Given the description of an element on the screen output the (x, y) to click on. 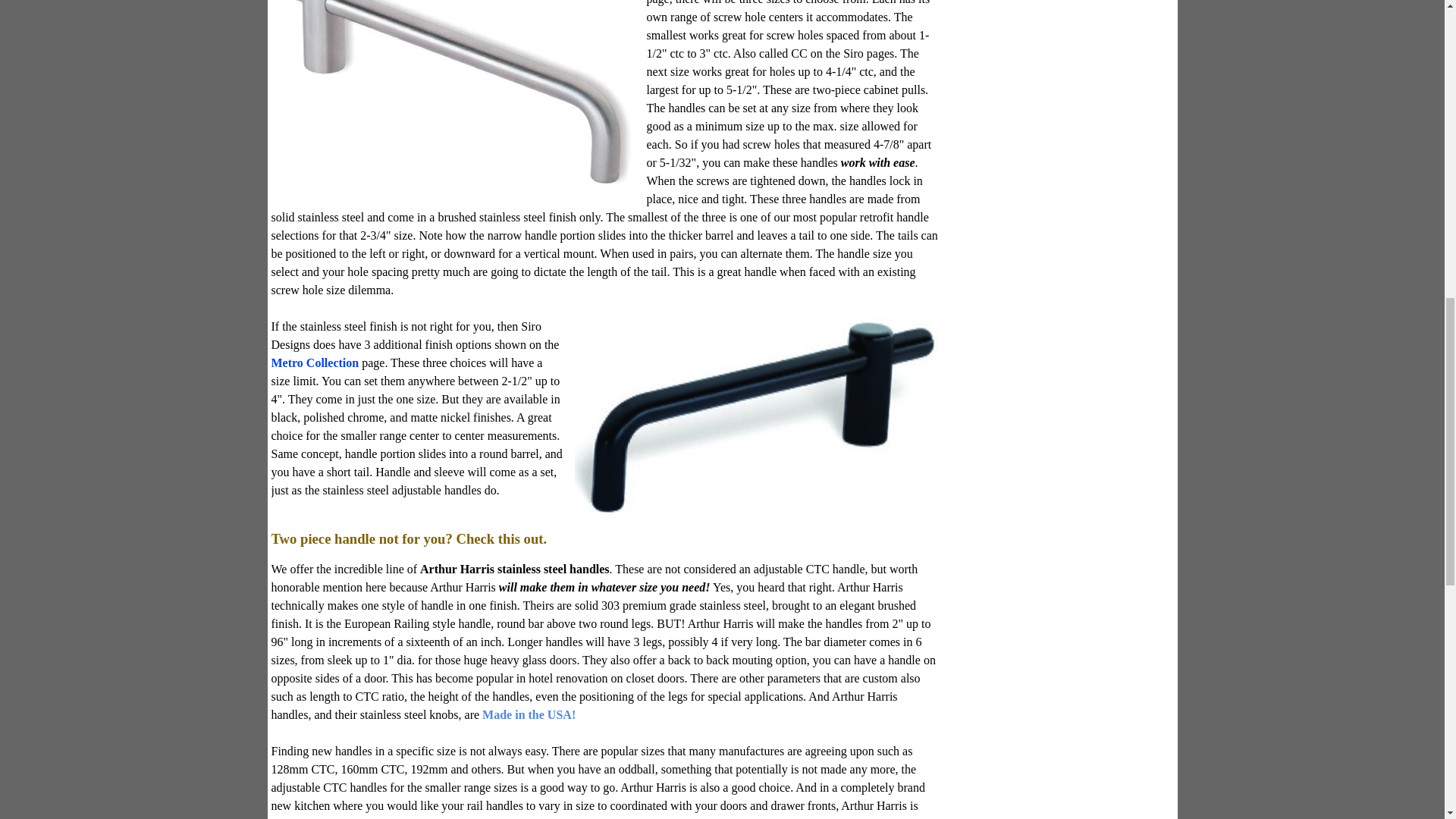
Siro Design Metro adjustable ctc handles (757, 416)
